Given the description of an element on the screen output the (x, y) to click on. 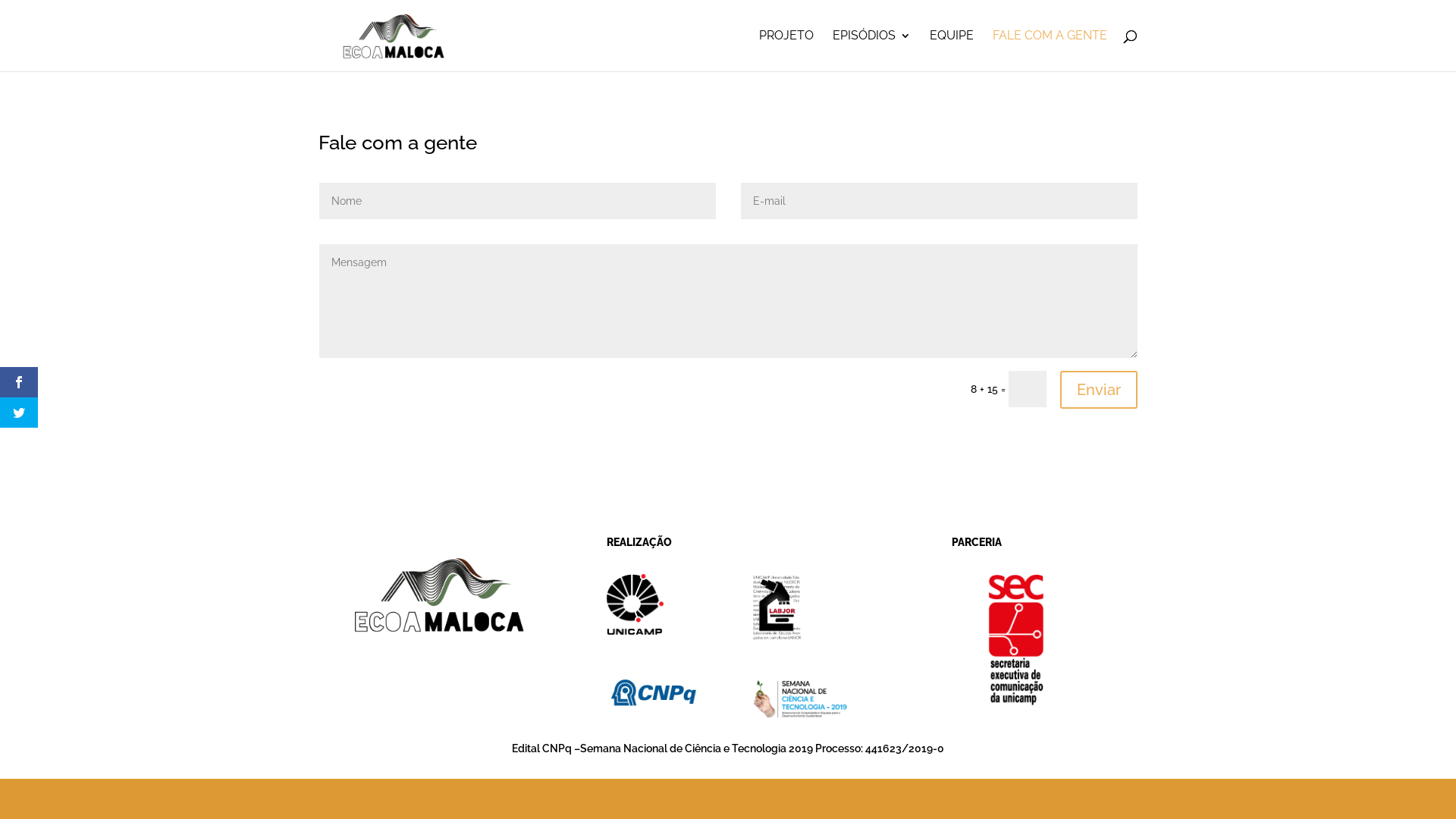
PROJETO Element type: text (786, 50)
EQUIPE Element type: text (951, 50)
FALE COM A GENTE Element type: text (1049, 50)
logo_sec_vertical Element type: hover (1015, 640)
Enviar Element type: text (1098, 389)
